Given the description of an element on the screen output the (x, y) to click on. 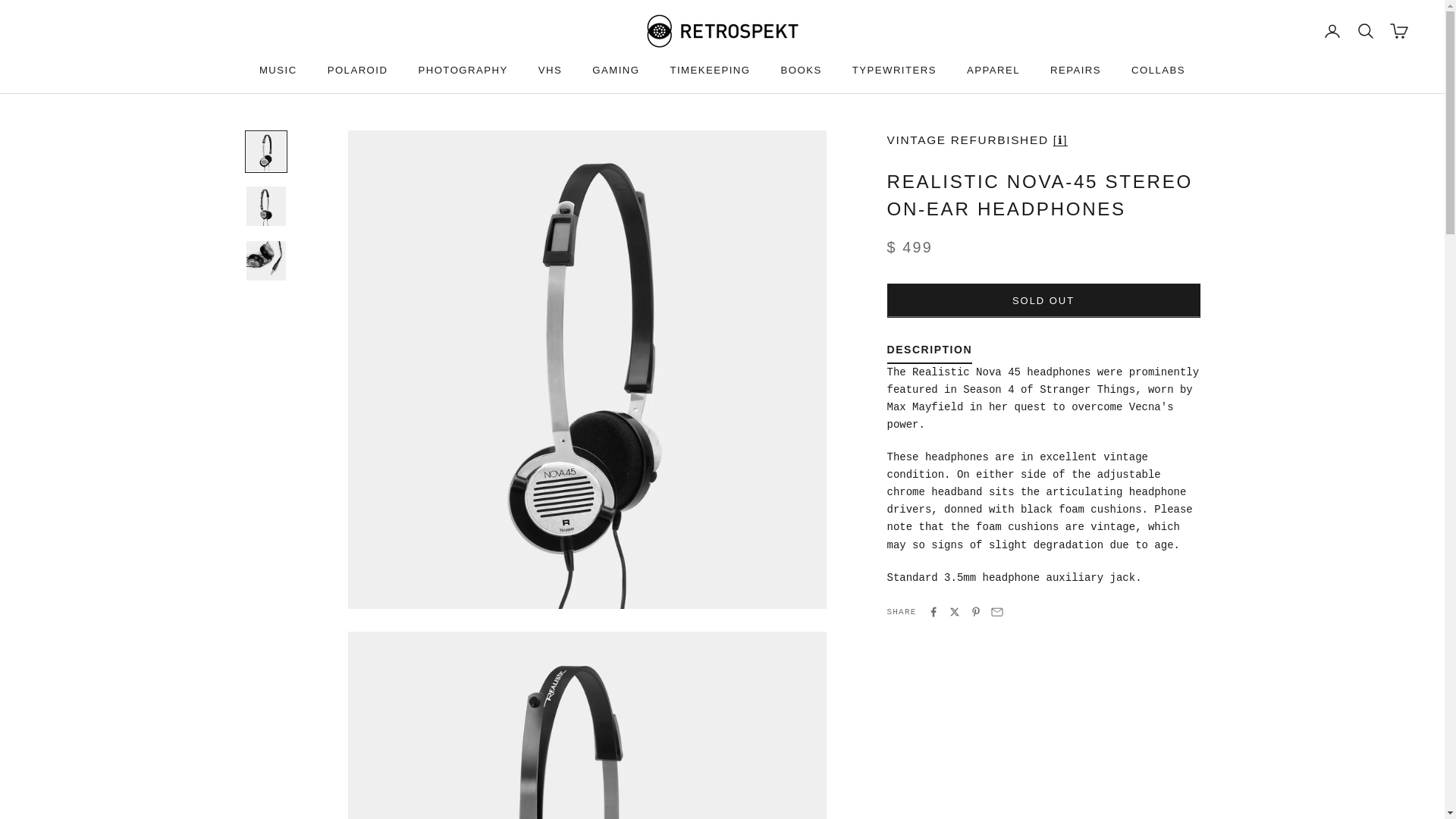
Retrospekt (721, 30)
